Given the description of an element on the screen output the (x, y) to click on. 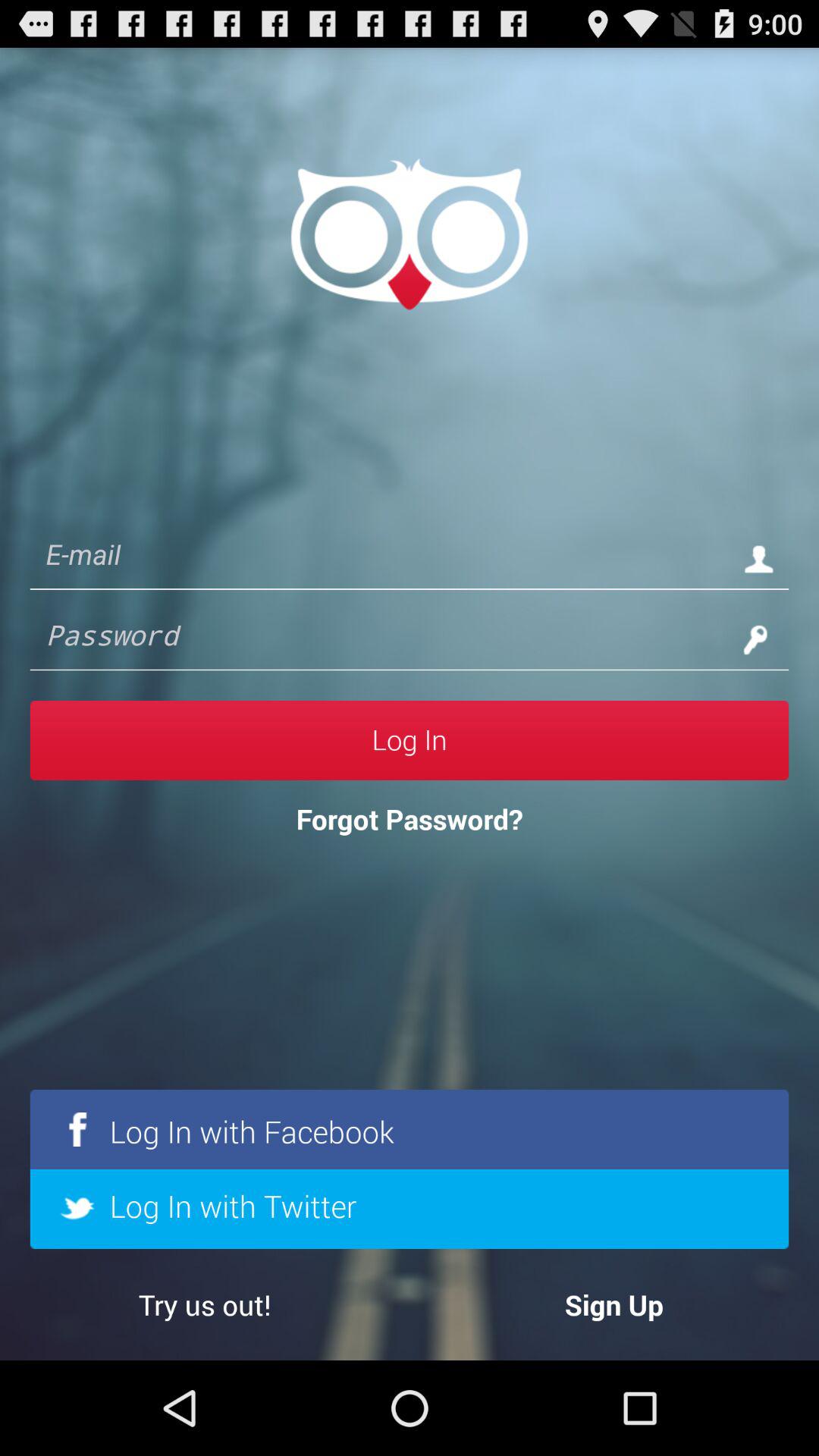
email (379, 558)
